Given the description of an element on the screen output the (x, y) to click on. 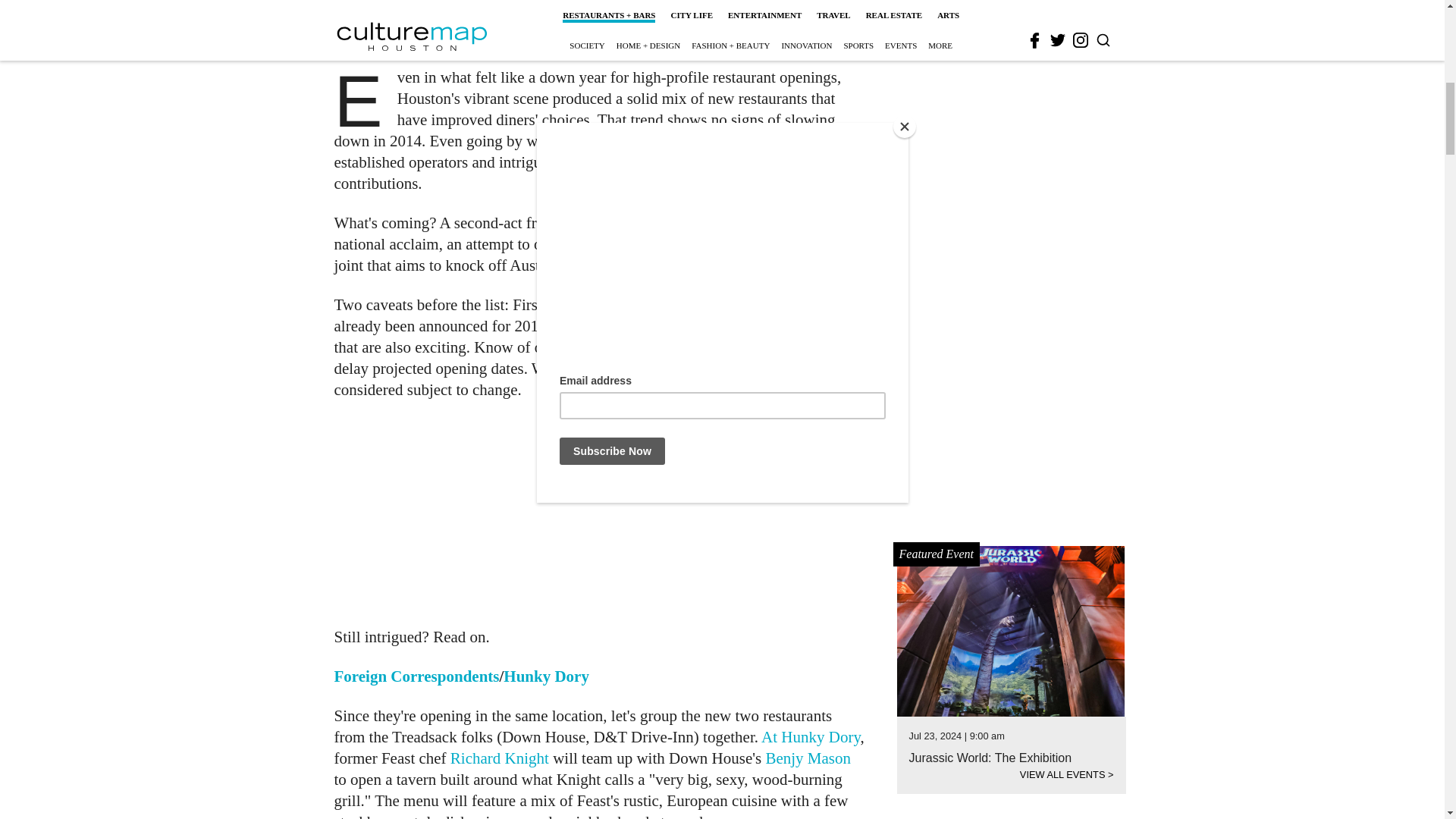
3rd party ad content (600, 513)
3rd party ad content (1011, 5)
